Given the description of an element on the screen output the (x, y) to click on. 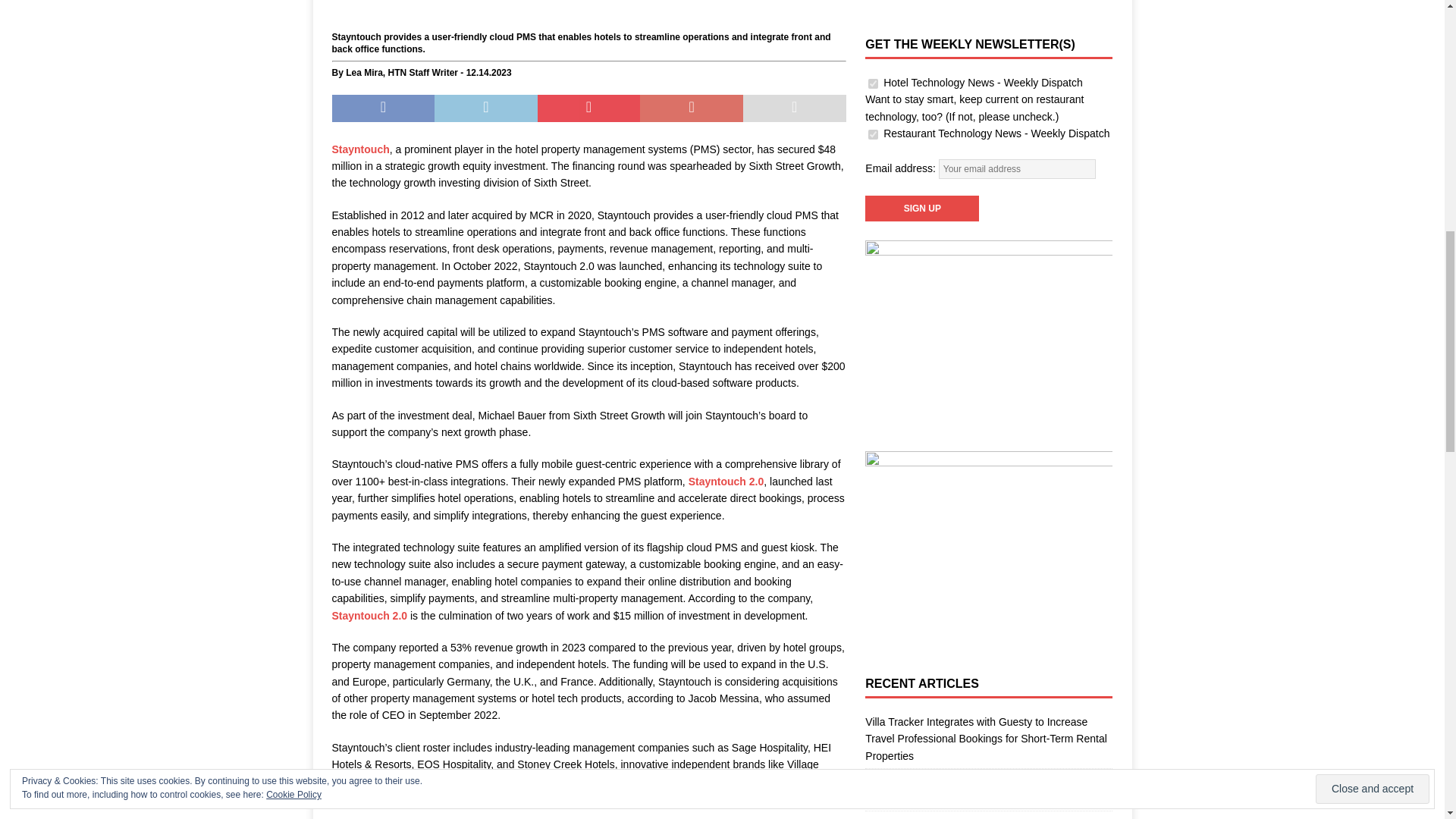
18125c9609 (872, 134)
Stayntouch (360, 149)
Stayntouch 2.0 (726, 481)
662a89223e (872, 83)
Pay-Groups-upsell-2 (588, 13)
Stayntouch 2.0 (369, 615)
Sign up (921, 208)
